Given the description of an element on the screen output the (x, y) to click on. 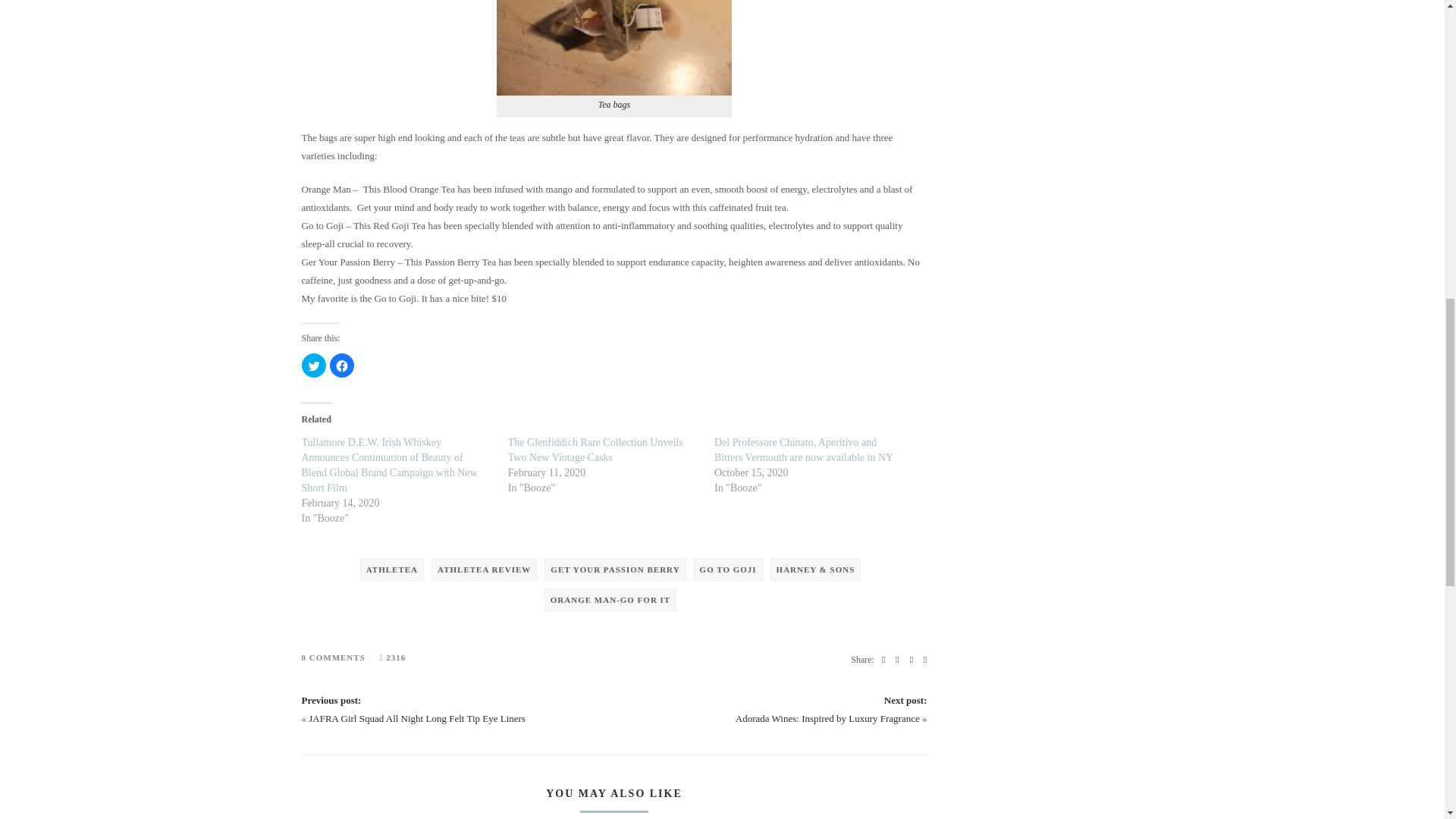
Click to share on Facebook (341, 364)
Adorada Wines: Inspired by Luxury Fragrance (827, 717)
Click to share on Twitter (313, 364)
GET YOUR PASSION BERRY (614, 568)
GO TO GOJI (728, 568)
0 COMMENTS (333, 656)
ATHLETEA (391, 568)
JAFRA Girl Squad All Night Long Felt Tip Eye Liners (416, 717)
Next post: (905, 699)
Previous post: (331, 699)
